Given the description of an element on the screen output the (x, y) to click on. 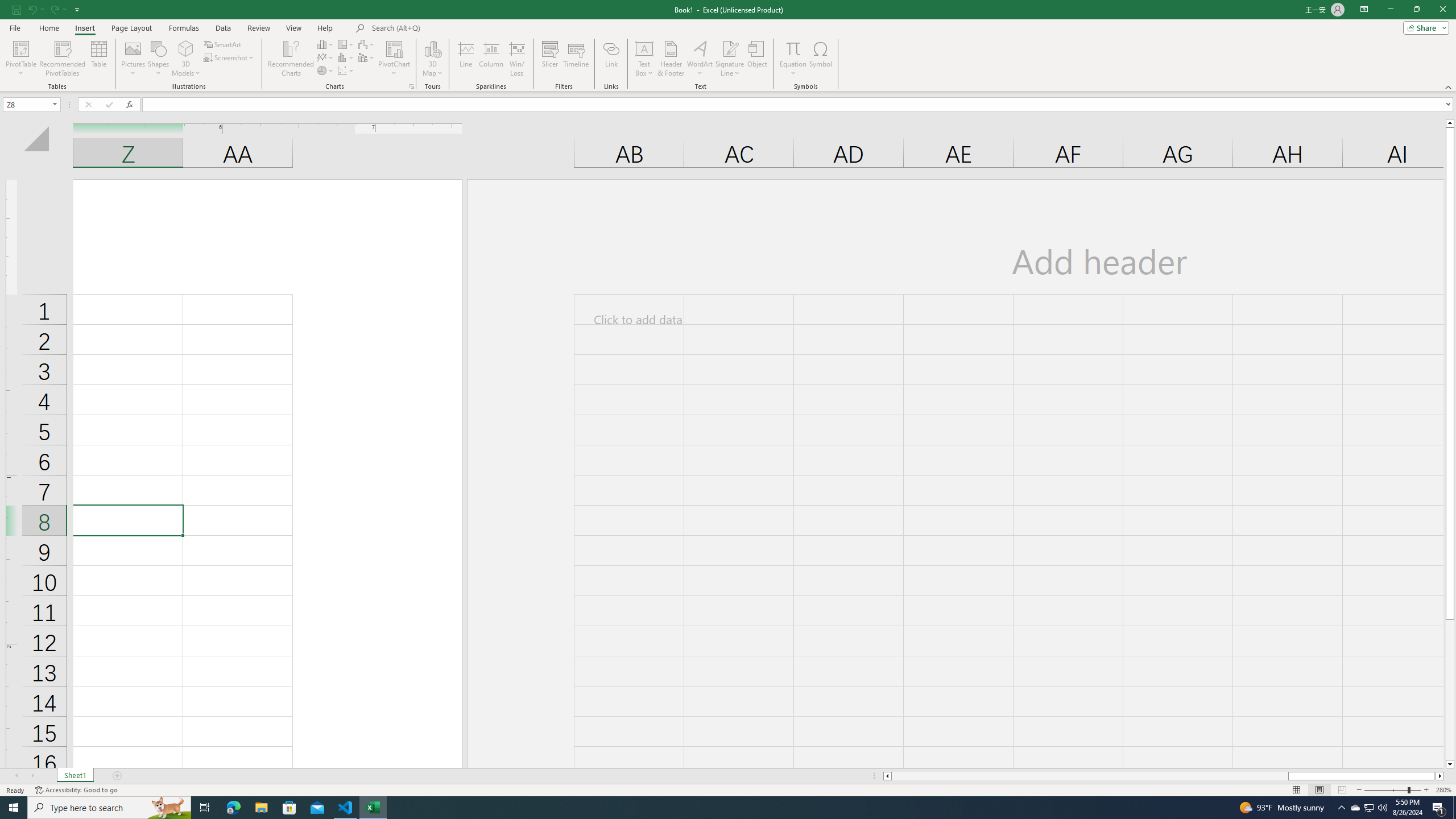
PivotTable (20, 48)
Draw Horizontal Text Box (643, 48)
3D Map (432, 58)
Class: MsoCommandBar (728, 45)
Pictures (133, 58)
Insert Column or Bar Chart (325, 44)
Signature Line (729, 48)
